Given the description of an element on the screen output the (x, y) to click on. 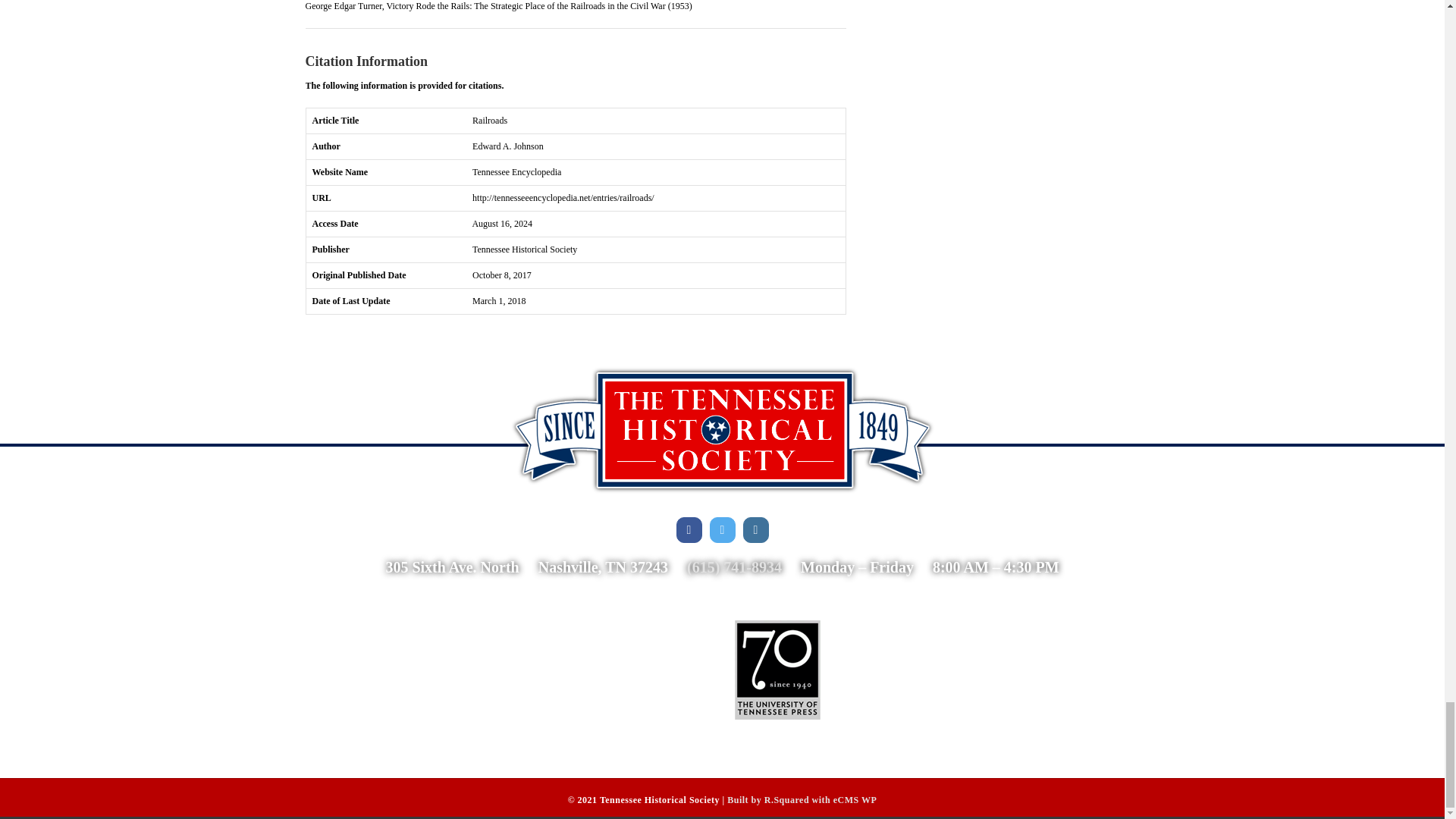
Twitter (722, 529)
Facebook (689, 529)
Instagram (755, 529)
